Given the description of an element on the screen output the (x, y) to click on. 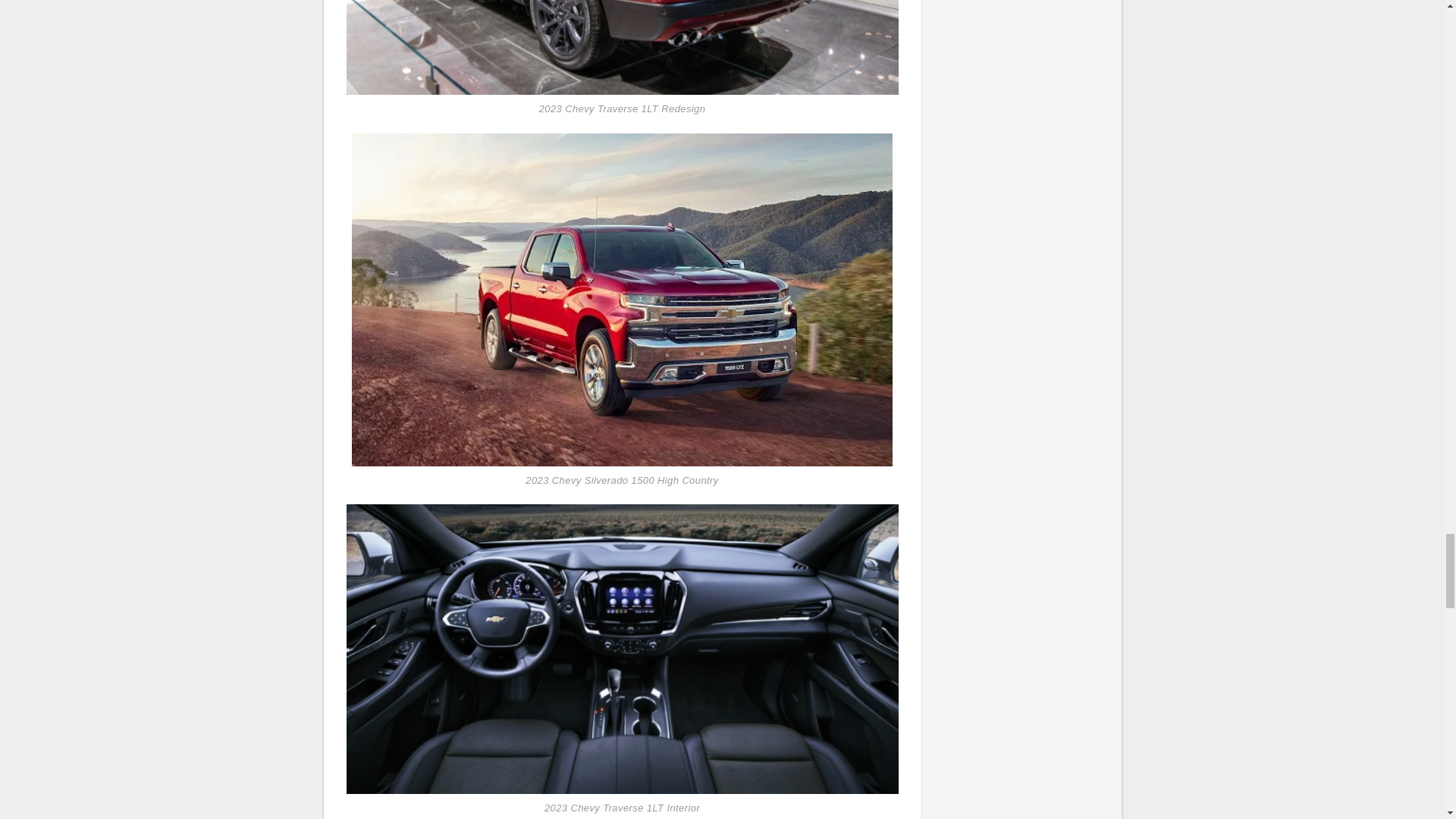
2023 Chevy Traverse 1LT Redesign (622, 47)
2023 Chevy Silverado 1500 High Country (622, 298)
